Given the description of an element on the screen output the (x, y) to click on. 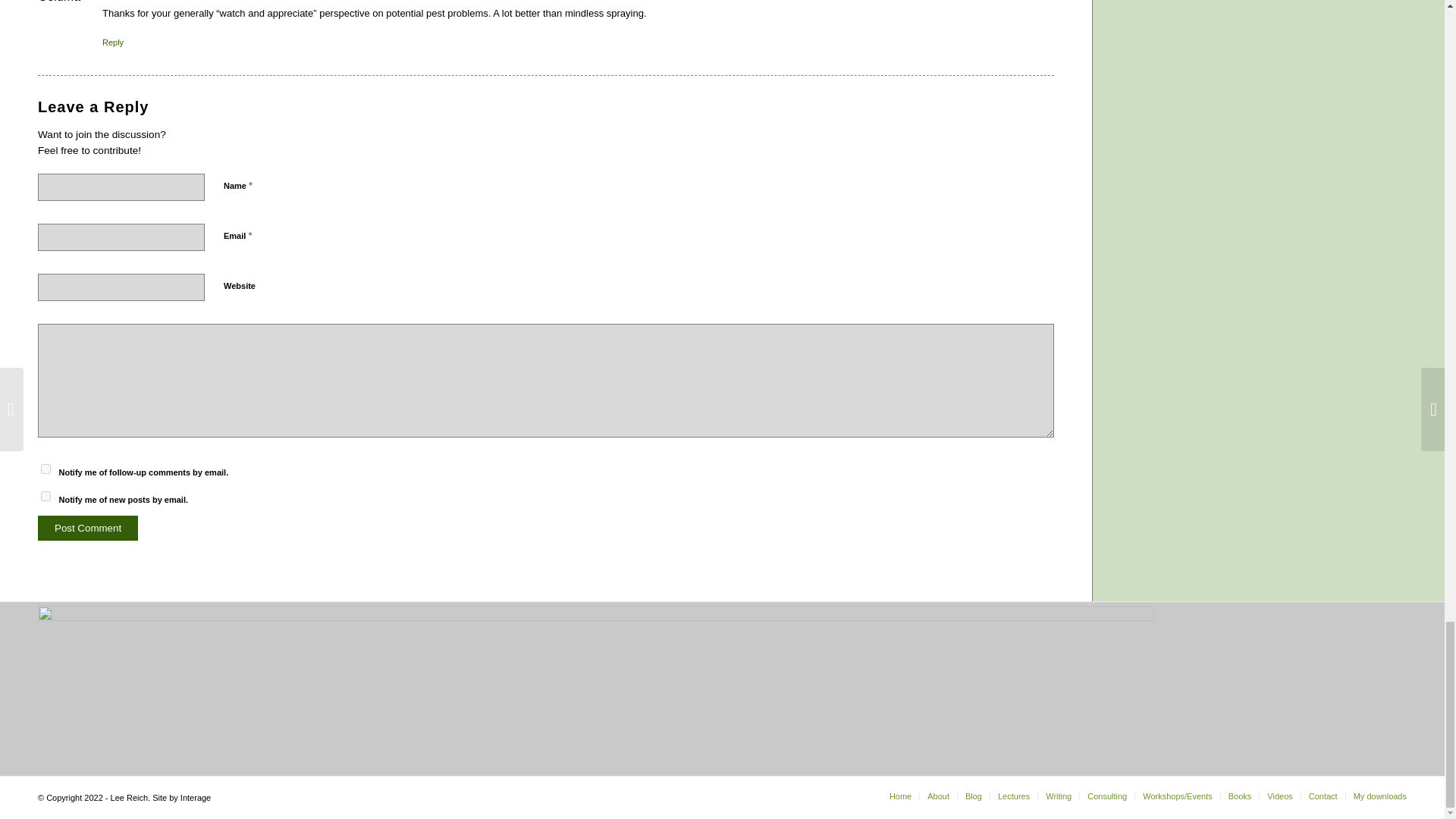
Post Comment (87, 527)
subscribe (45, 469)
subscribe (45, 496)
